Given the description of an element on the screen output the (x, y) to click on. 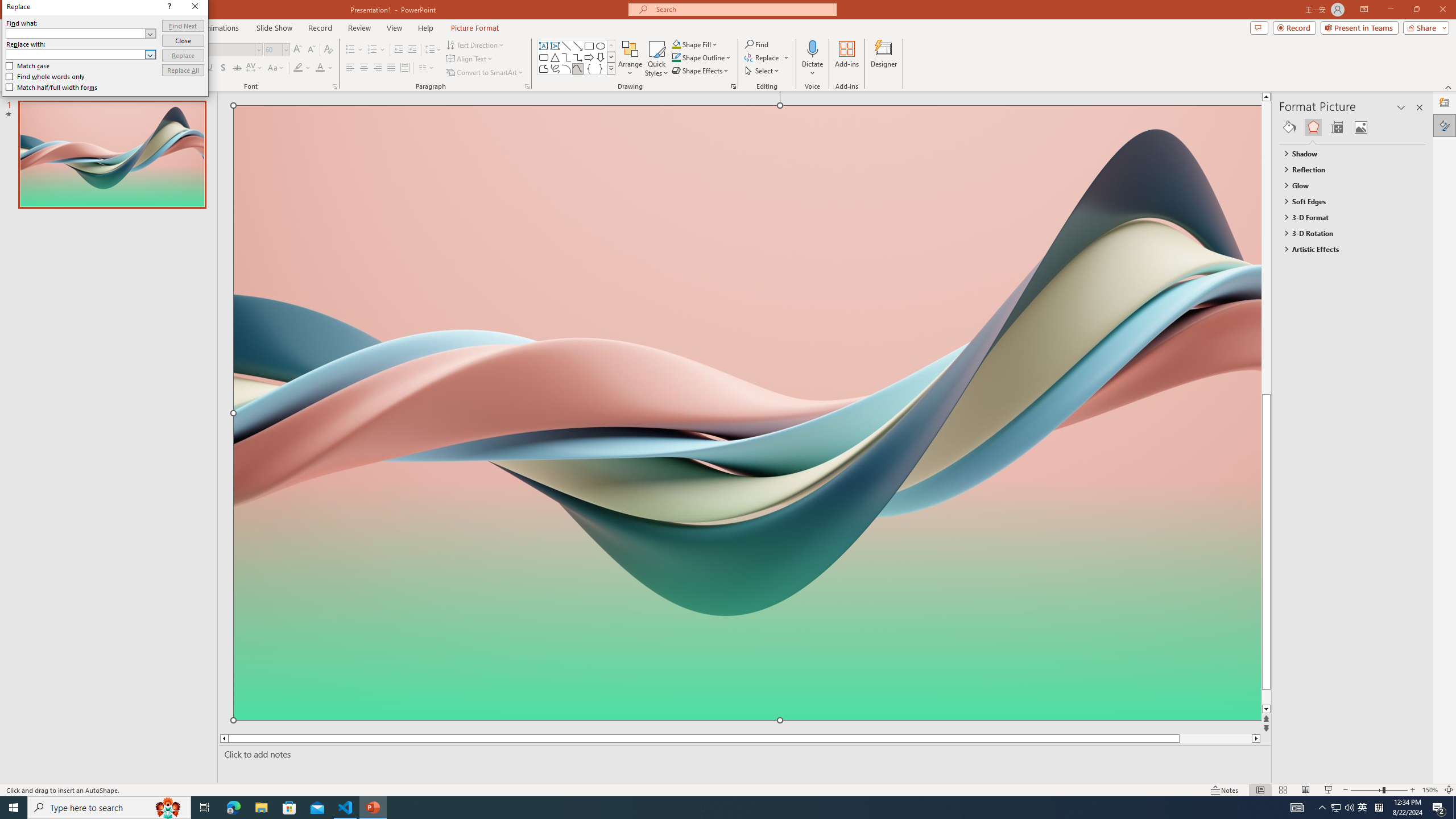
Font Color Red (320, 67)
Page up (1287, 247)
Replace All (183, 69)
Picture (1361, 126)
Line Arrow (577, 45)
Justify (390, 67)
Align Text (470, 58)
Increase Indent (412, 49)
Character Spacing (254, 67)
